Given the description of an element on the screen output the (x, y) to click on. 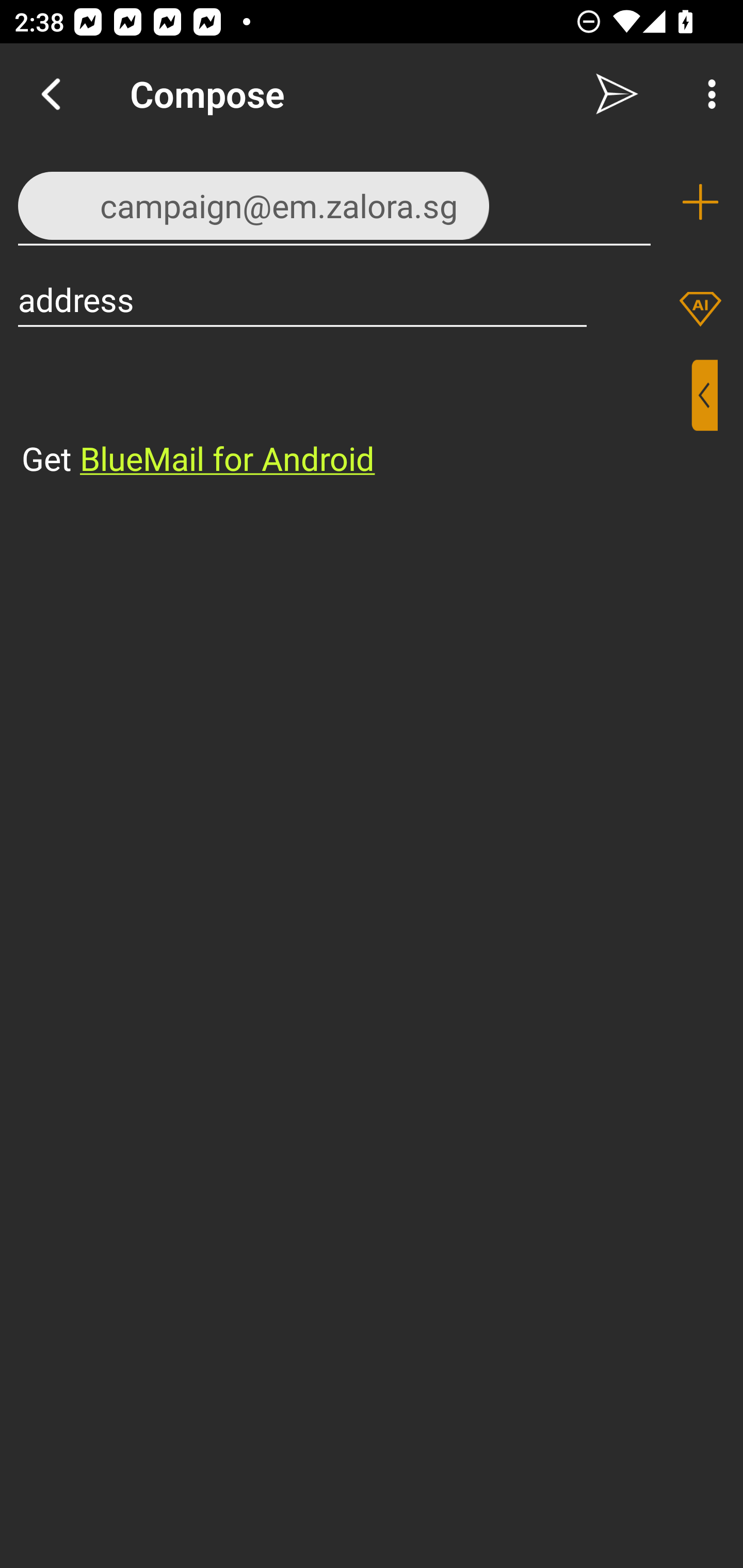
Navigate up (50, 93)
Send (616, 93)
More Options (706, 93)
<campaign@em.zalora.sg>,  (334, 201)
Add recipient (To) (699, 201)
address (302, 299)


⁣Get BlueMail for Android ​ (355, 419)
